Given the description of an element on the screen output the (x, y) to click on. 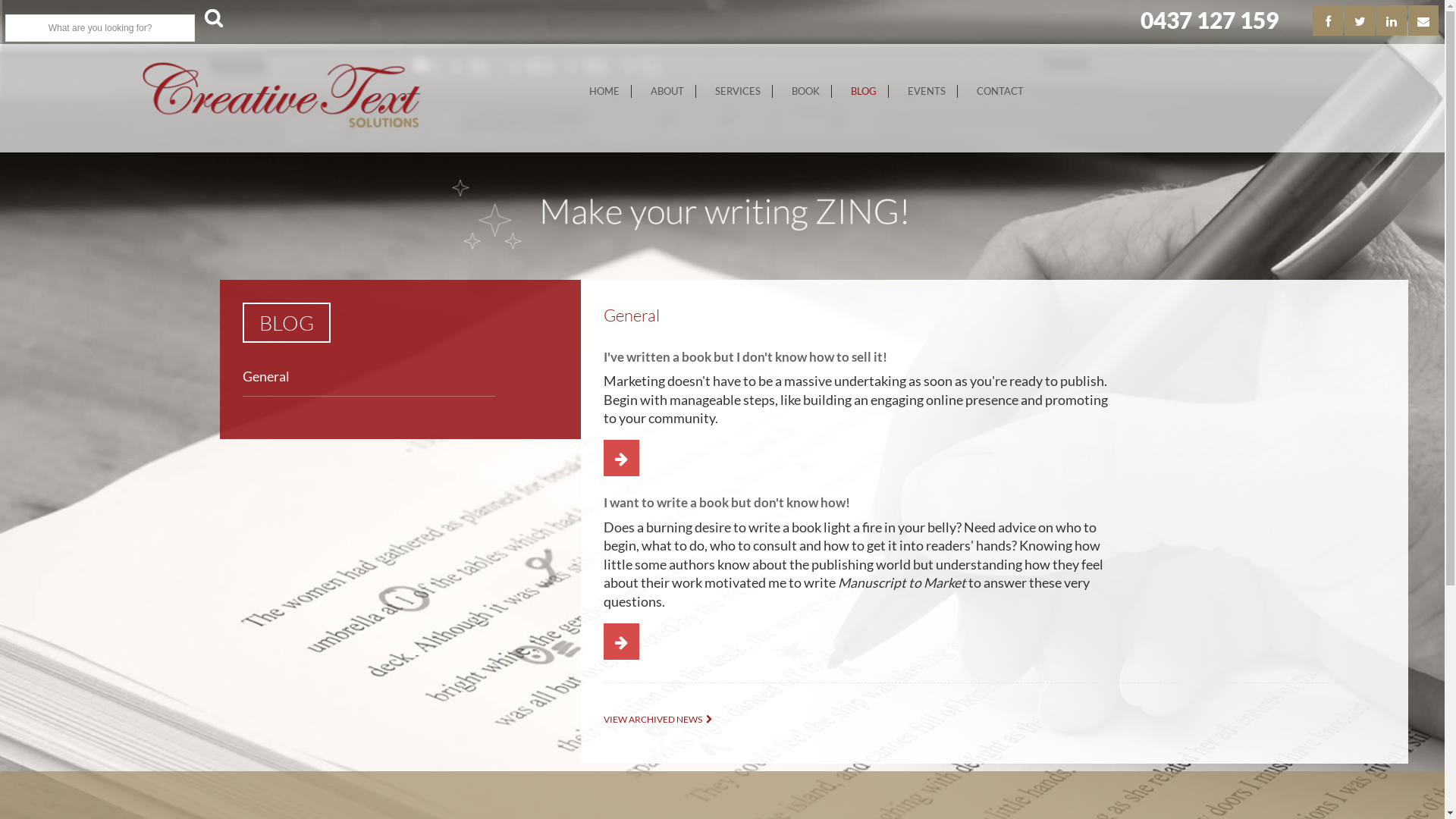
BLOG Element type: text (863, 90)
I've written a book but I don't know how to sell it! Element type: text (745, 356)
Creative Text Solutions Element type: hover (281, 95)
VIEW ARCHIVED NEWS Element type: text (661, 718)
General Element type: text (265, 375)
0437 127 159 Element type: text (1209, 19)
SERVICES Element type: text (737, 90)
EVENTS Element type: text (926, 90)
I want to write a book but don't know how! Element type: text (726, 502)
BOOK Element type: text (805, 90)
CONTACT Element type: text (1000, 90)
HOME Element type: text (603, 90)
I want to write a book but don Element type: hover (621, 641)
I Element type: hover (621, 458)
ABOUT Element type: text (667, 90)
What are you looking for? Element type: text (99, 27)
